Given the description of an element on the screen output the (x, y) to click on. 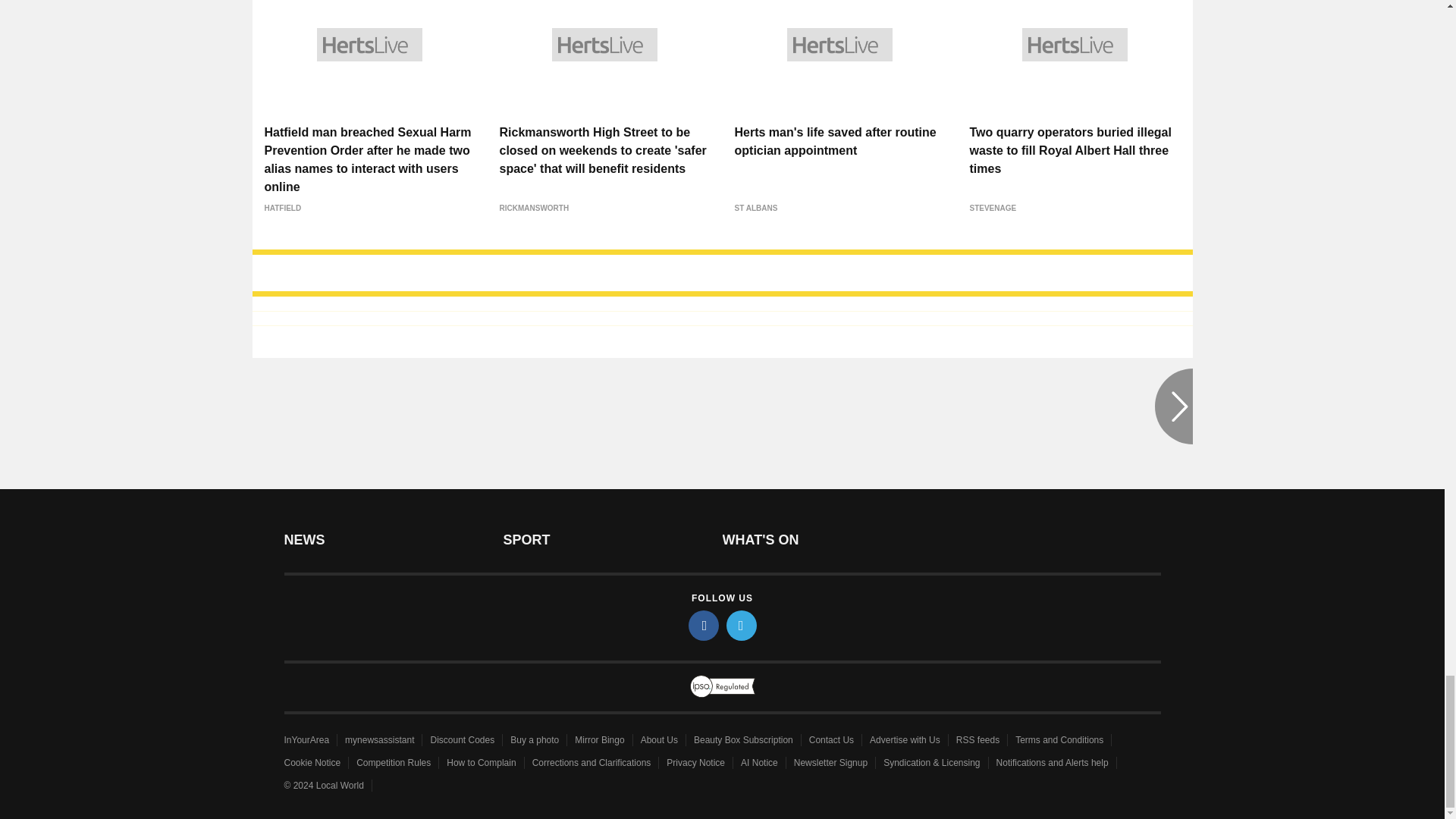
twitter (741, 625)
facebook (703, 625)
